Given the description of an element on the screen output the (x, y) to click on. 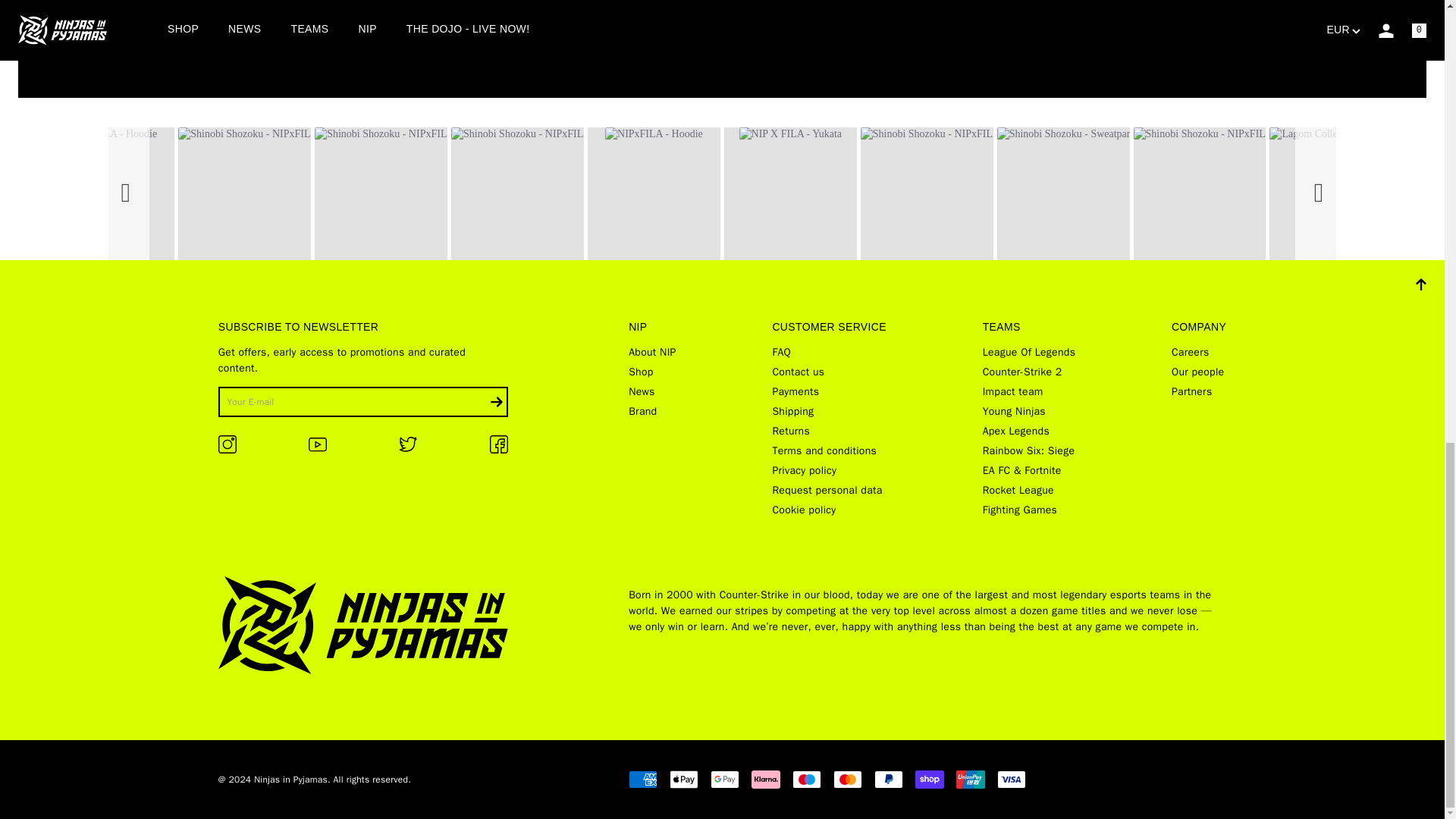
Ninjas in Pyjamas on Twitter (407, 448)
Weibo (701, 3)
2CF11625-D3CF-4A79-87B7-290E0BBA2F1E (317, 444)
C951C4A1-04E3-4661-A816-C6D68FC190C3 (407, 444)
2161D0A6-7049-4108-9169-03428FE1181B (498, 443)
VK (729, 3)
Ninjas in Pyjamas on Facebook (498, 449)
Instagram (603, 3)
Youtube (779, 3)
Ninjas in Pyjamas on Instagram (226, 449)
